Given the description of an element on the screen output the (x, y) to click on. 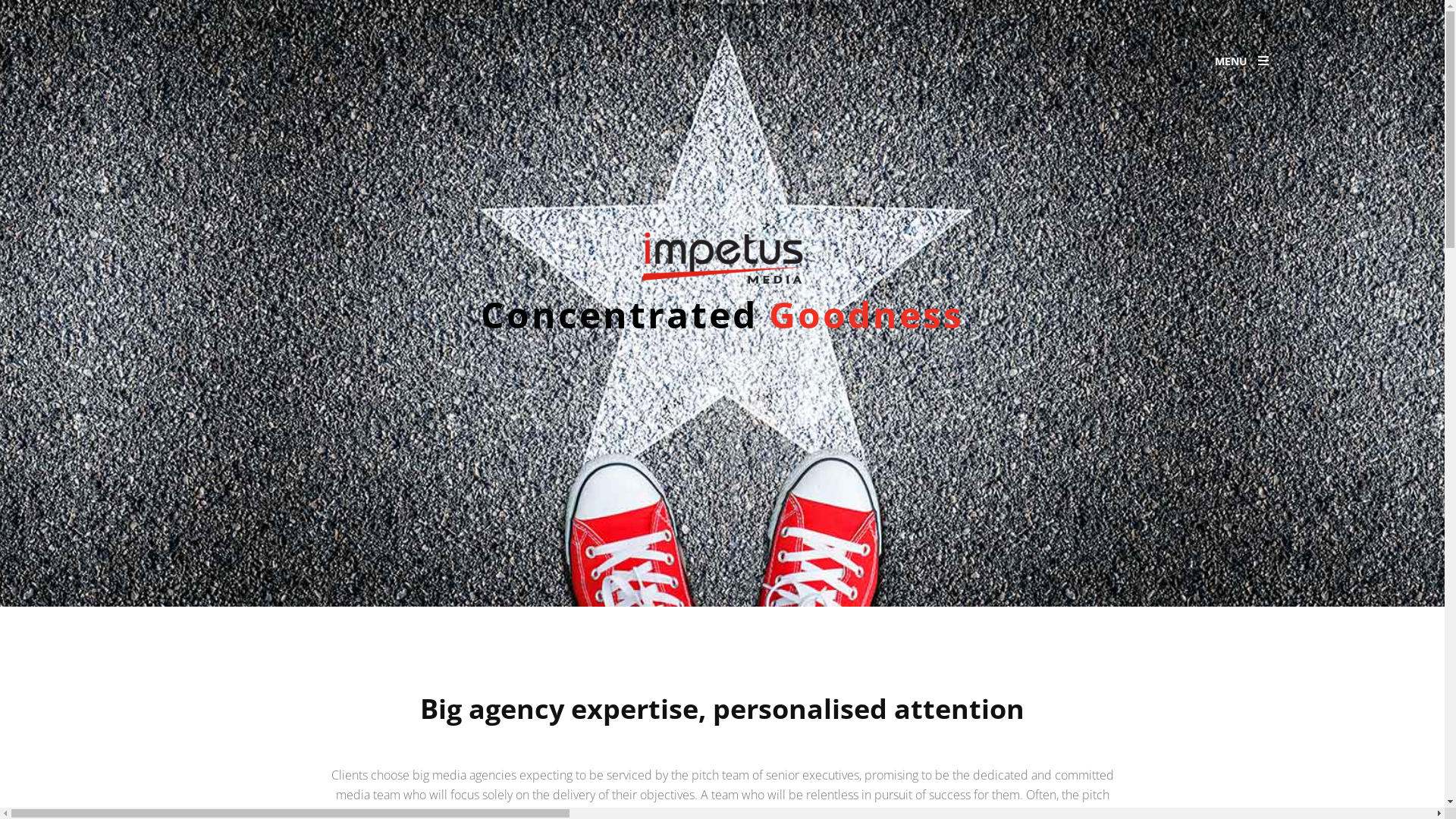
Skip to content Element type: text (216, 11)
